Given the description of an element on the screen output the (x, y) to click on. 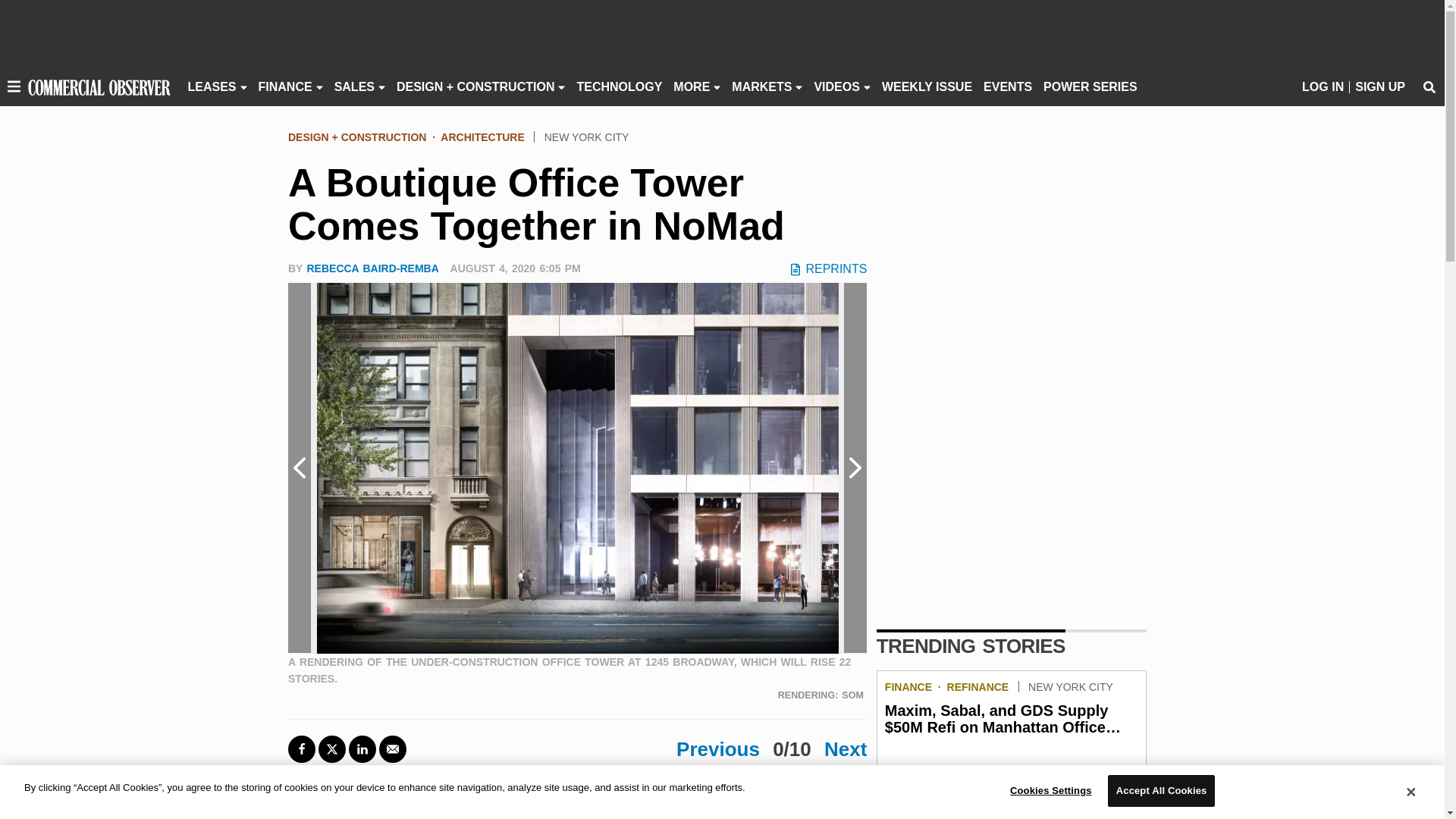
Tweet (332, 748)
TECHNOLOGY (619, 86)
LEASES (211, 86)
SALES (354, 86)
Share on LinkedIn (362, 748)
Send email (392, 748)
Share on Facebook (301, 748)
Commercial Observer Home (98, 86)
MORE (691, 86)
Posts by Rebecca Baird-Remba (371, 268)
FINANCE (286, 86)
